Given the description of an element on the screen output the (x, y) to click on. 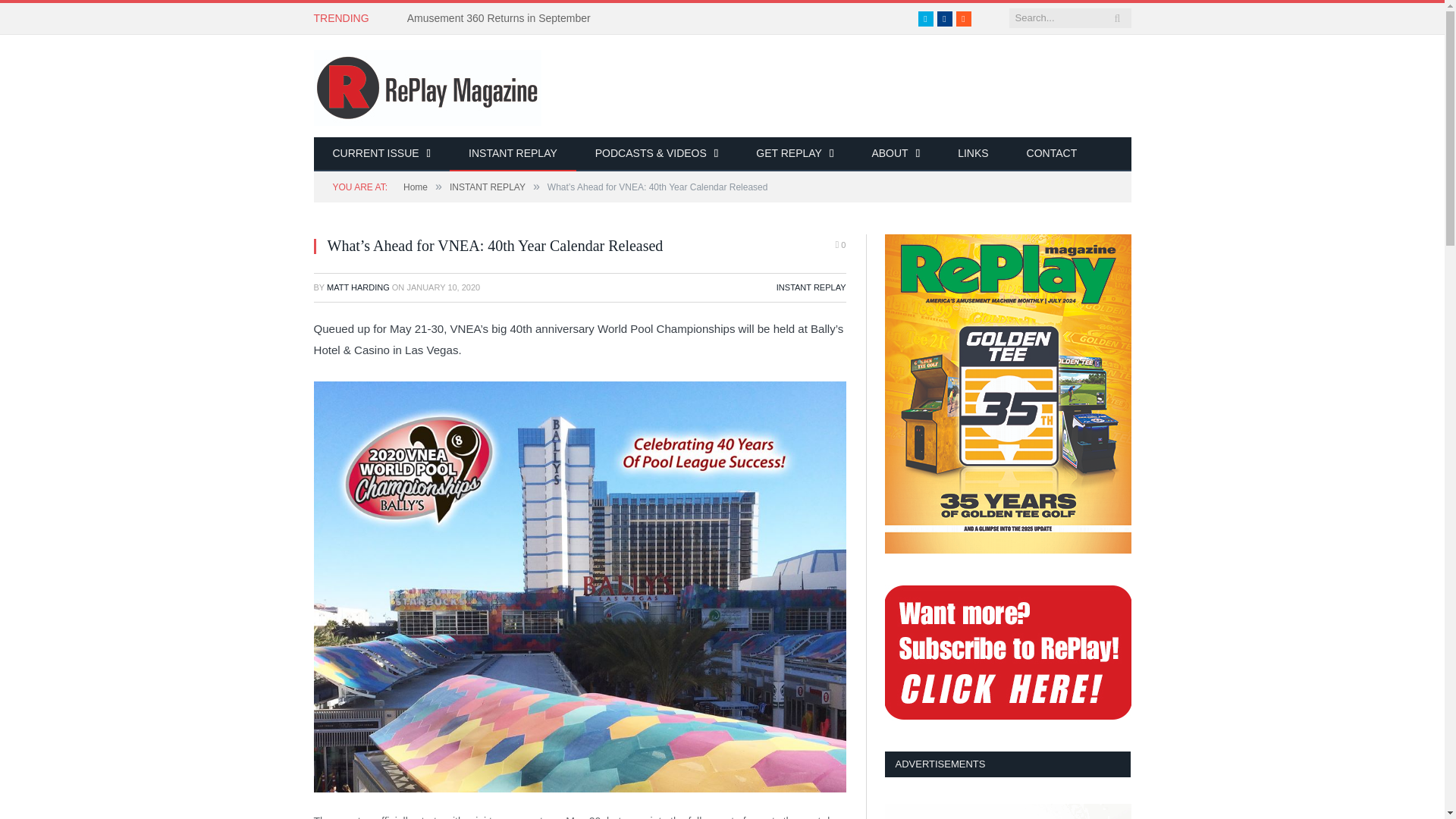
Facebook (944, 18)
RePlay Magazine (427, 85)
2020-01-10 (443, 286)
RSS (963, 18)
Amusement 360 Returns in September (502, 18)
Posts by Matt Harding (358, 286)
INSTANT REPLAY (512, 154)
Twitter (925, 18)
Amusement 360 Returns in September (502, 18)
CURRENT ISSUE (381, 154)
